Given the description of an element on the screen output the (x, y) to click on. 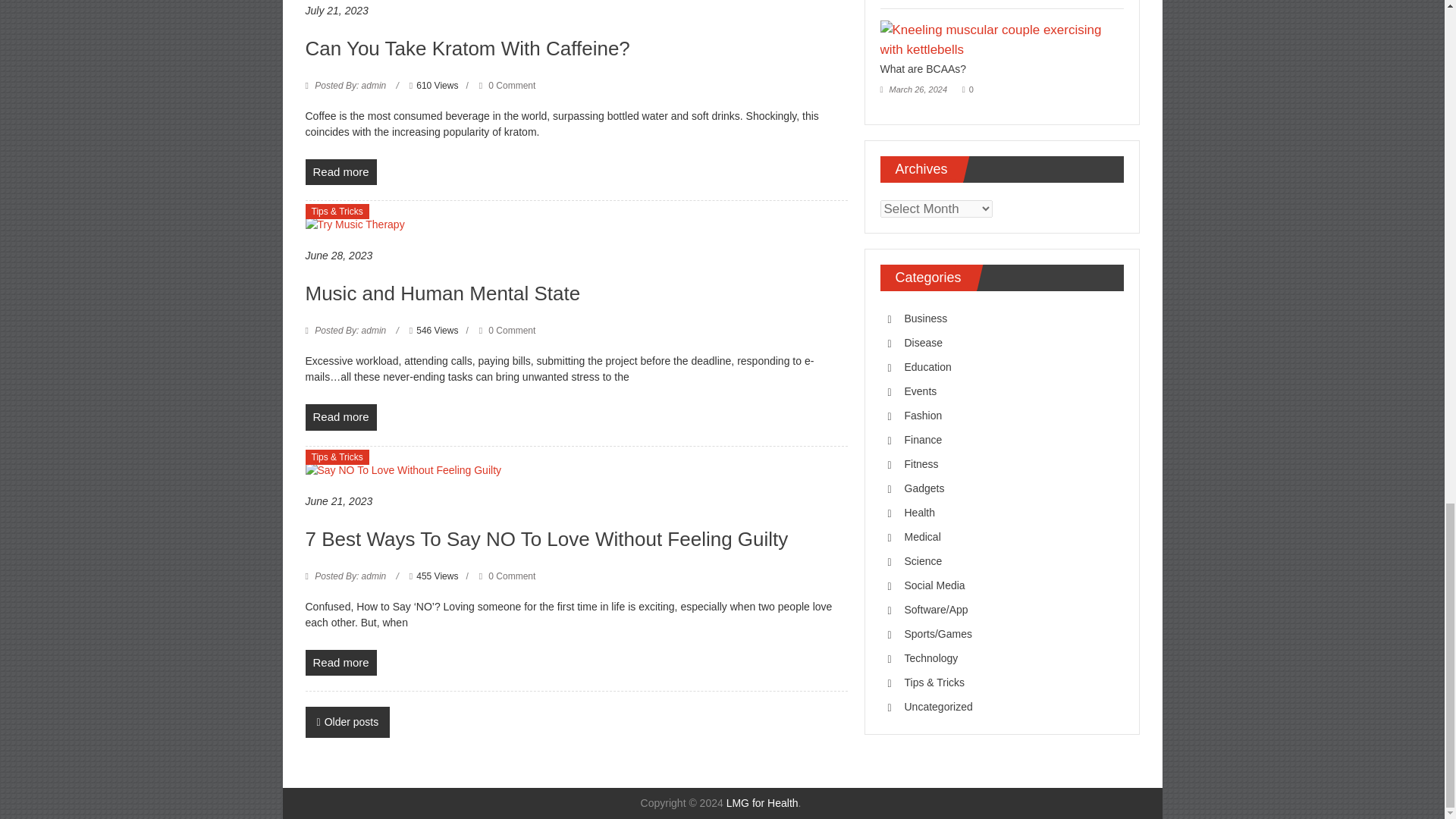
Read more (339, 171)
Can You Take Kratom With Caffeine? (466, 47)
Can You Take Kratom With Caffeine? (466, 47)
July 21, 2023 (336, 10)
5:30 pm (336, 10)
0 Comment (507, 85)
Posted By: admin (350, 85)
